Given the description of an element on the screen output the (x, y) to click on. 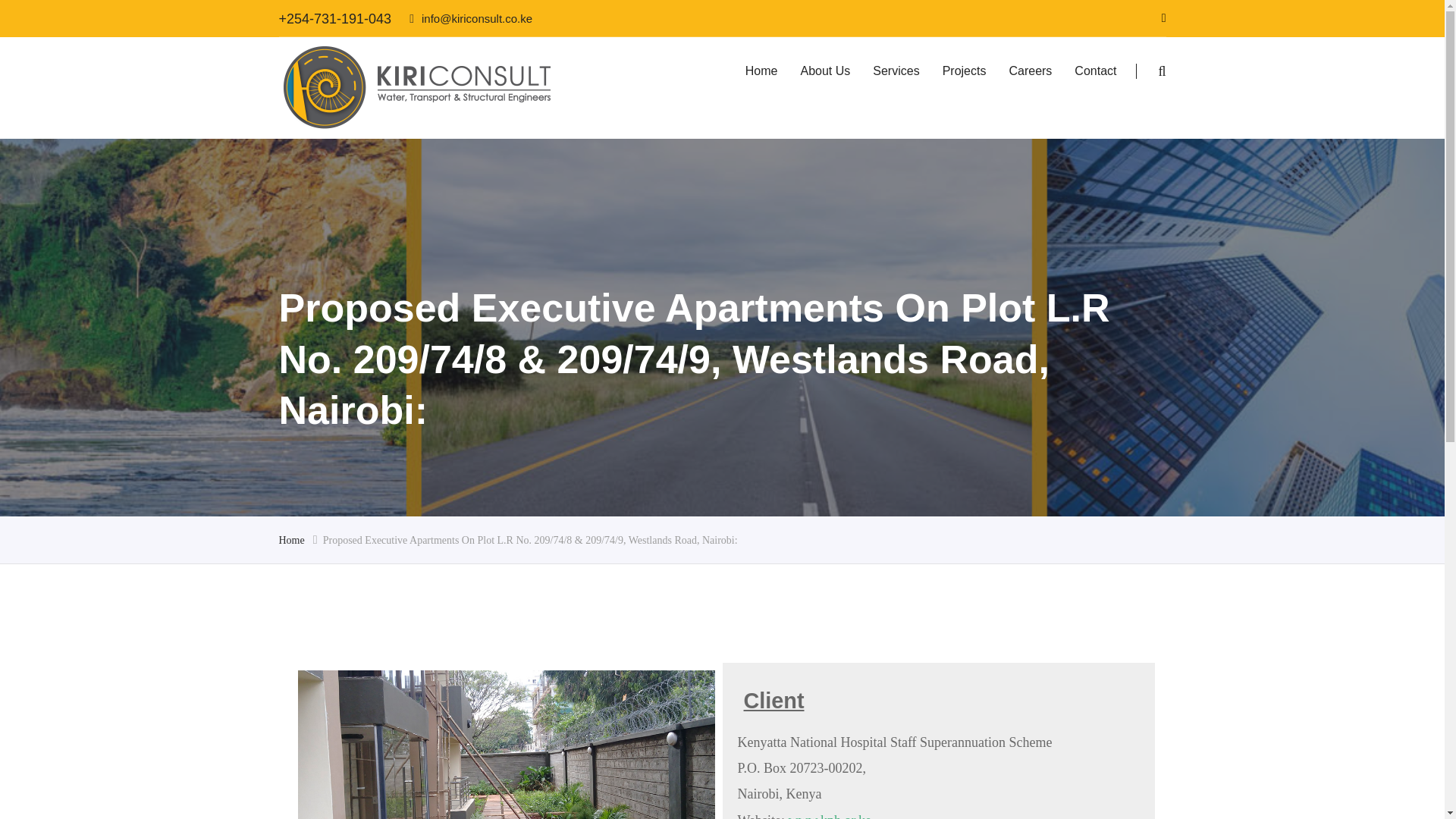
Nortech (417, 87)
Home (291, 540)
About Us (824, 71)
About Us (824, 71)
